Given the description of an element on the screen output the (x, y) to click on. 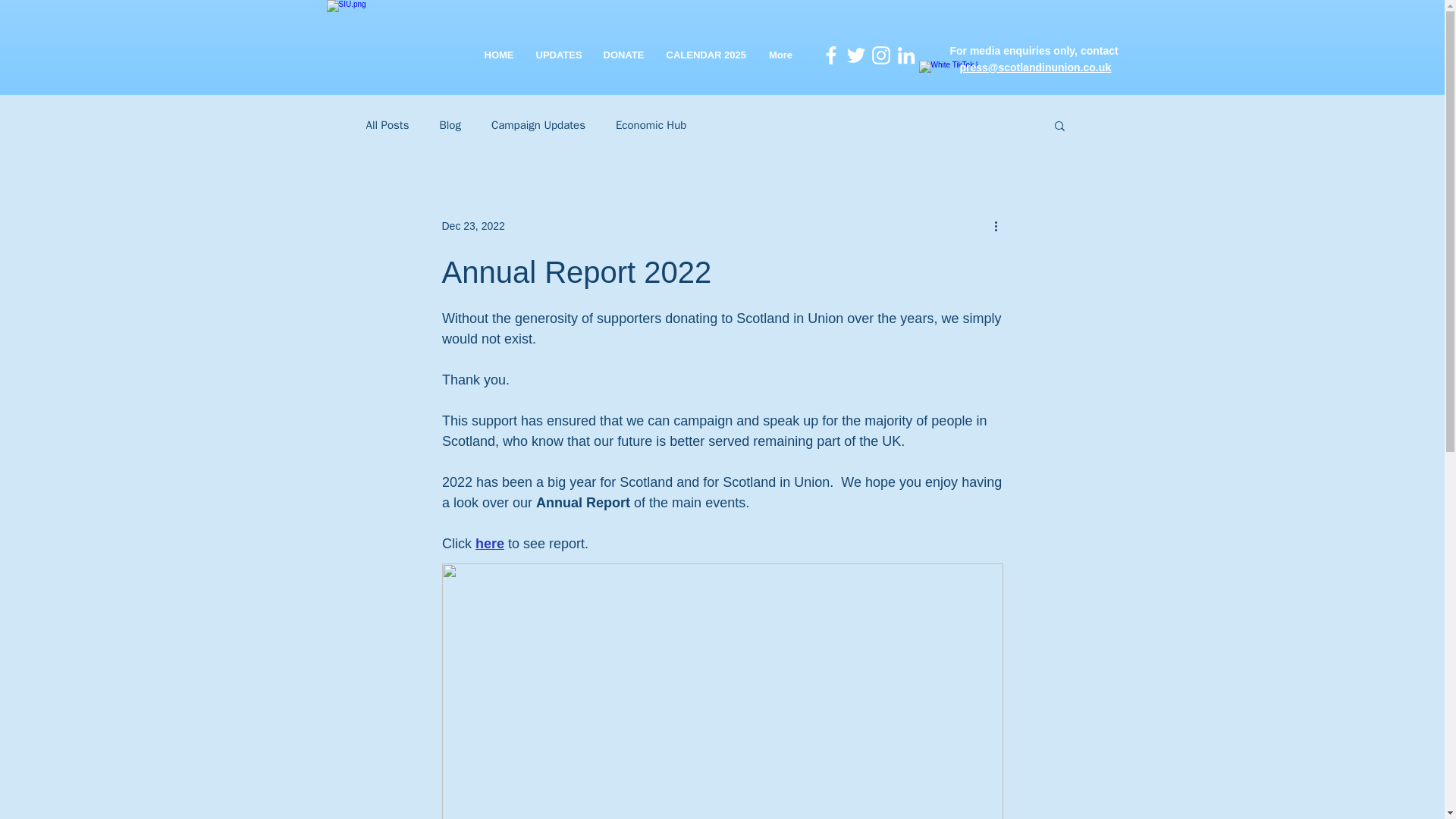
Dec 23, 2022 (472, 225)
CALENDAR 2025 (706, 54)
Campaign Updates (538, 124)
Blog (449, 124)
UPDATES (558, 54)
Economic Hub (650, 124)
All Posts (387, 124)
DONATE (622, 54)
here (488, 543)
HOME (498, 54)
